Given the description of an element on the screen output the (x, y) to click on. 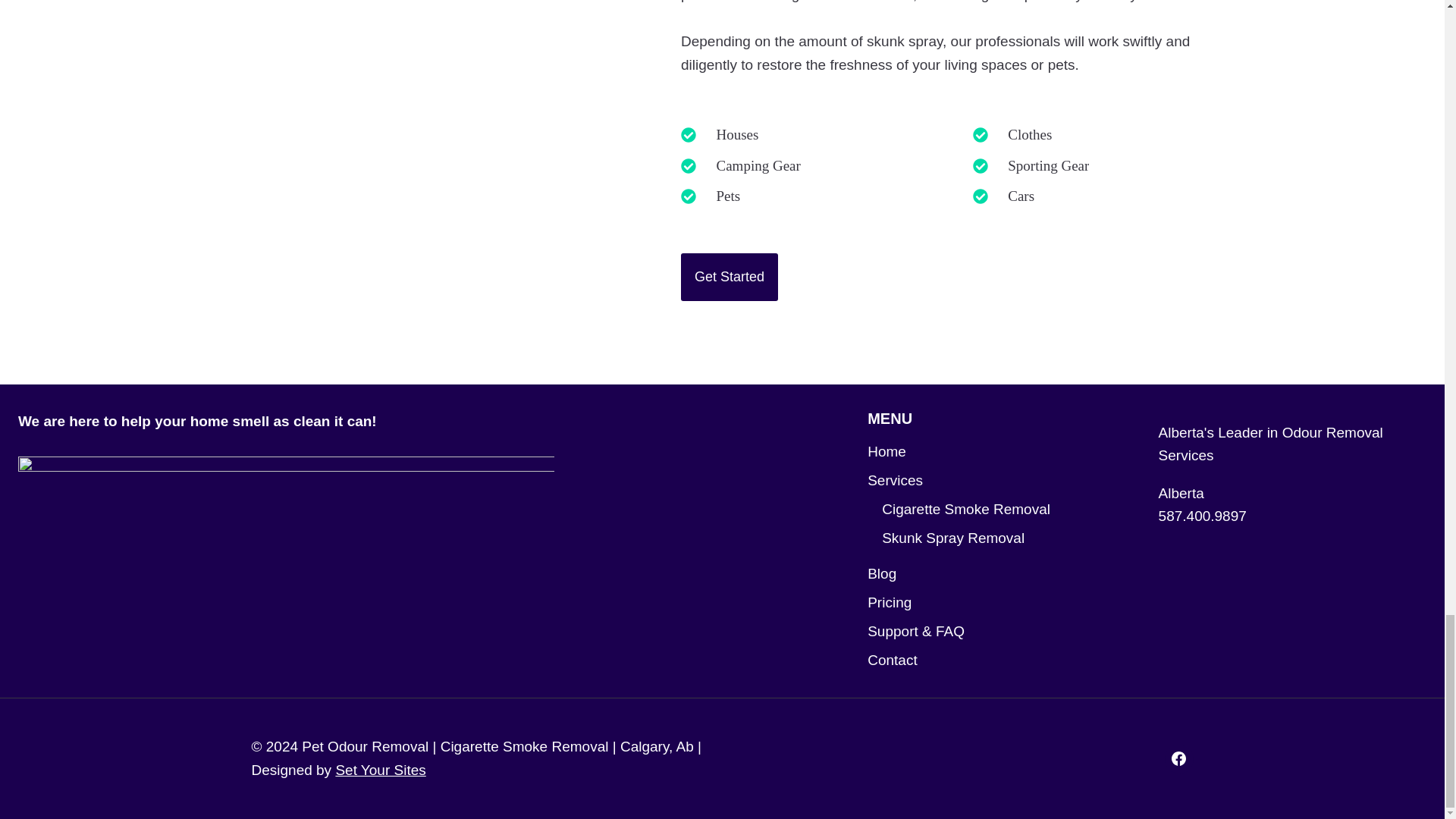
Contact (1001, 660)
Services (1001, 480)
Skunk Spray Removal (1008, 538)
Get Started (729, 277)
Pricing (1001, 602)
Cigarette Smoke Removal (1008, 509)
Set Your Sites (379, 770)
Home (1001, 451)
Blog (1001, 573)
